Given the description of an element on the screen output the (x, y) to click on. 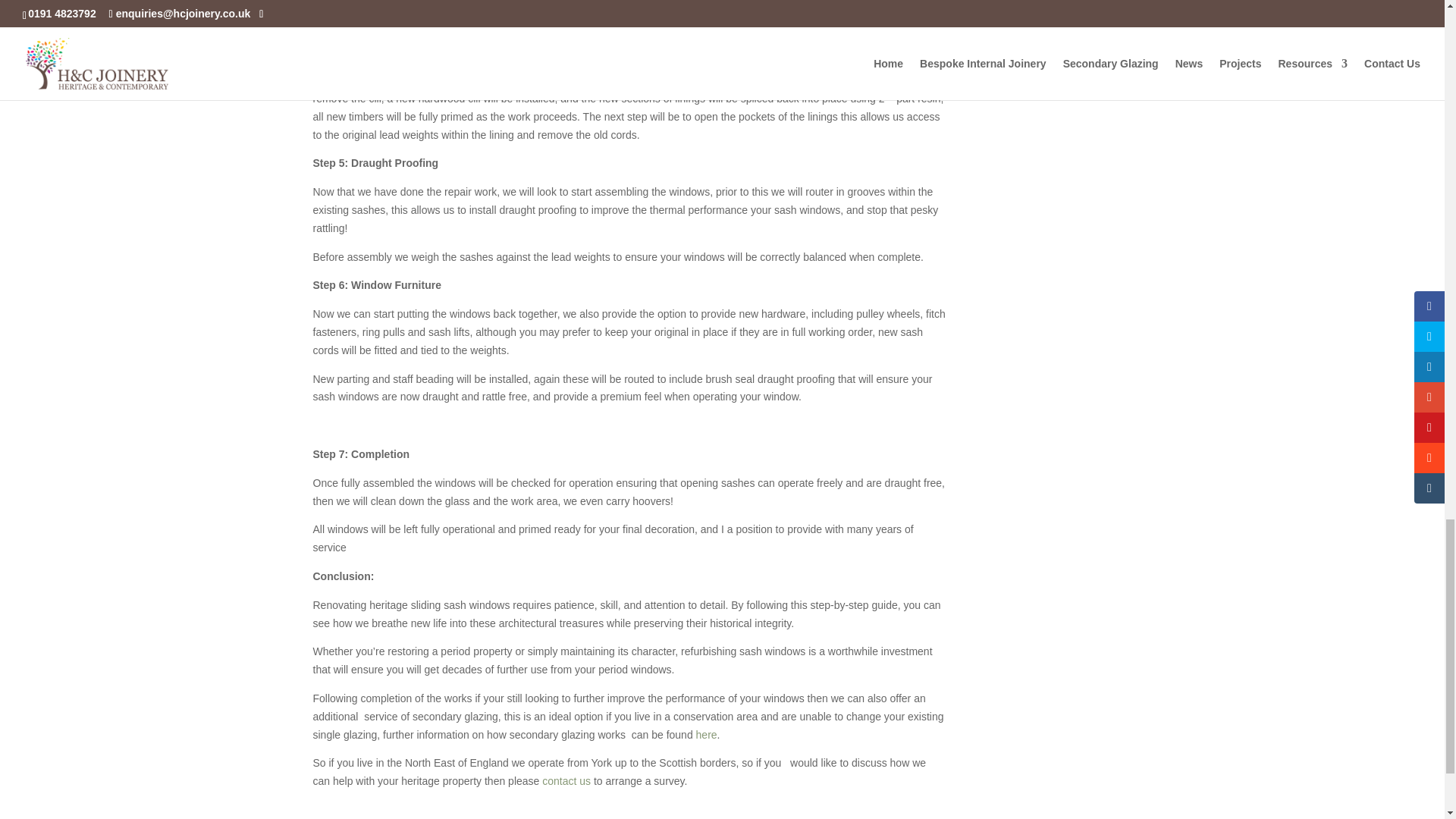
here (706, 734)
contact us (566, 780)
blog on putty pointing (413, 5)
